Given the description of an element on the screen output the (x, y) to click on. 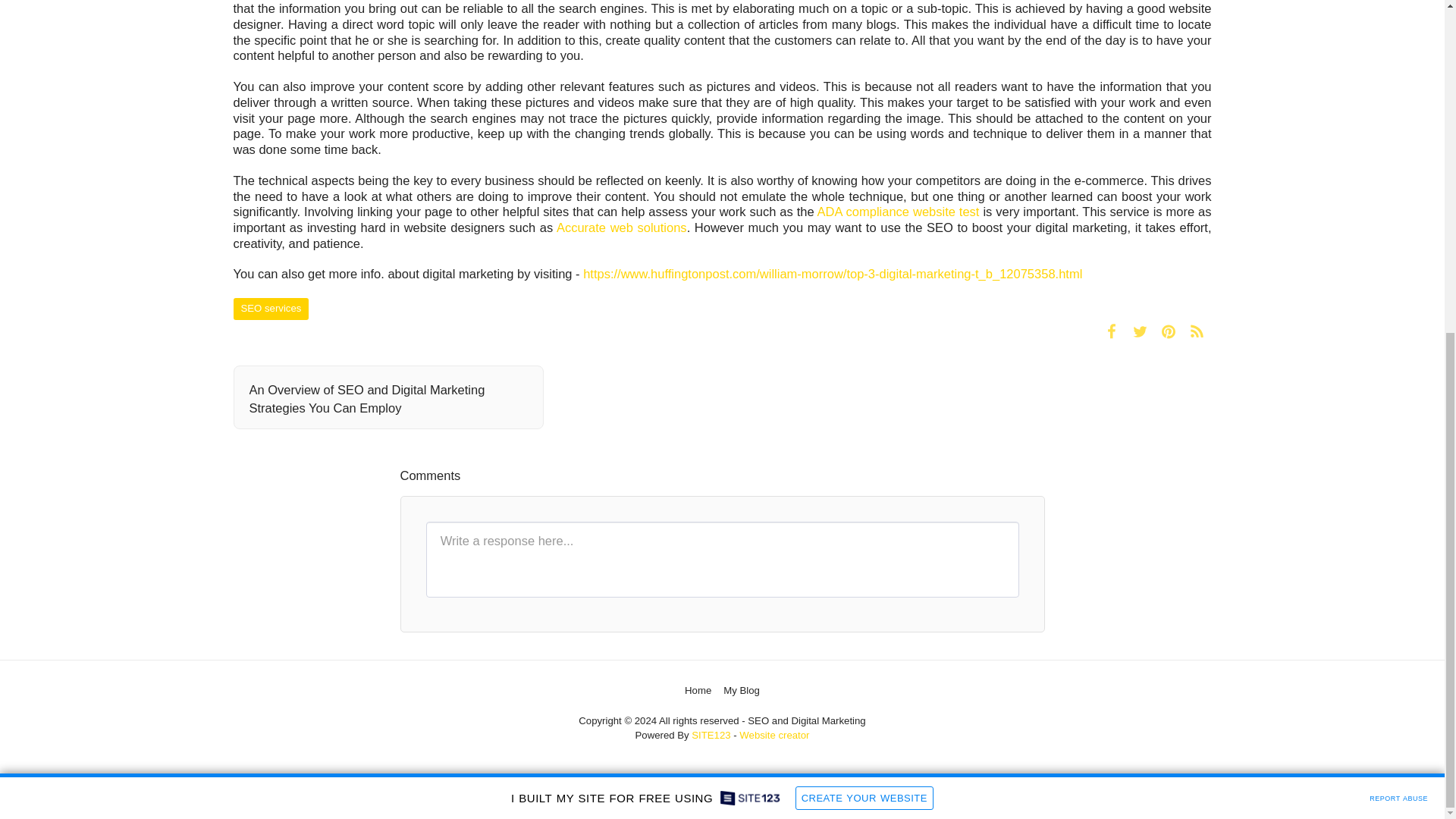
ADA compliance website test (897, 211)
Tweet (1139, 331)
SITE123 (710, 735)
SEO services (270, 309)
Website creator (774, 735)
Pin it (1168, 331)
REPORT ABUSE (1398, 242)
RSS (1196, 331)
Home (697, 690)
Share on Facebook (1111, 331)
Accurate web solutions (621, 227)
